Given the description of an element on the screen output the (x, y) to click on. 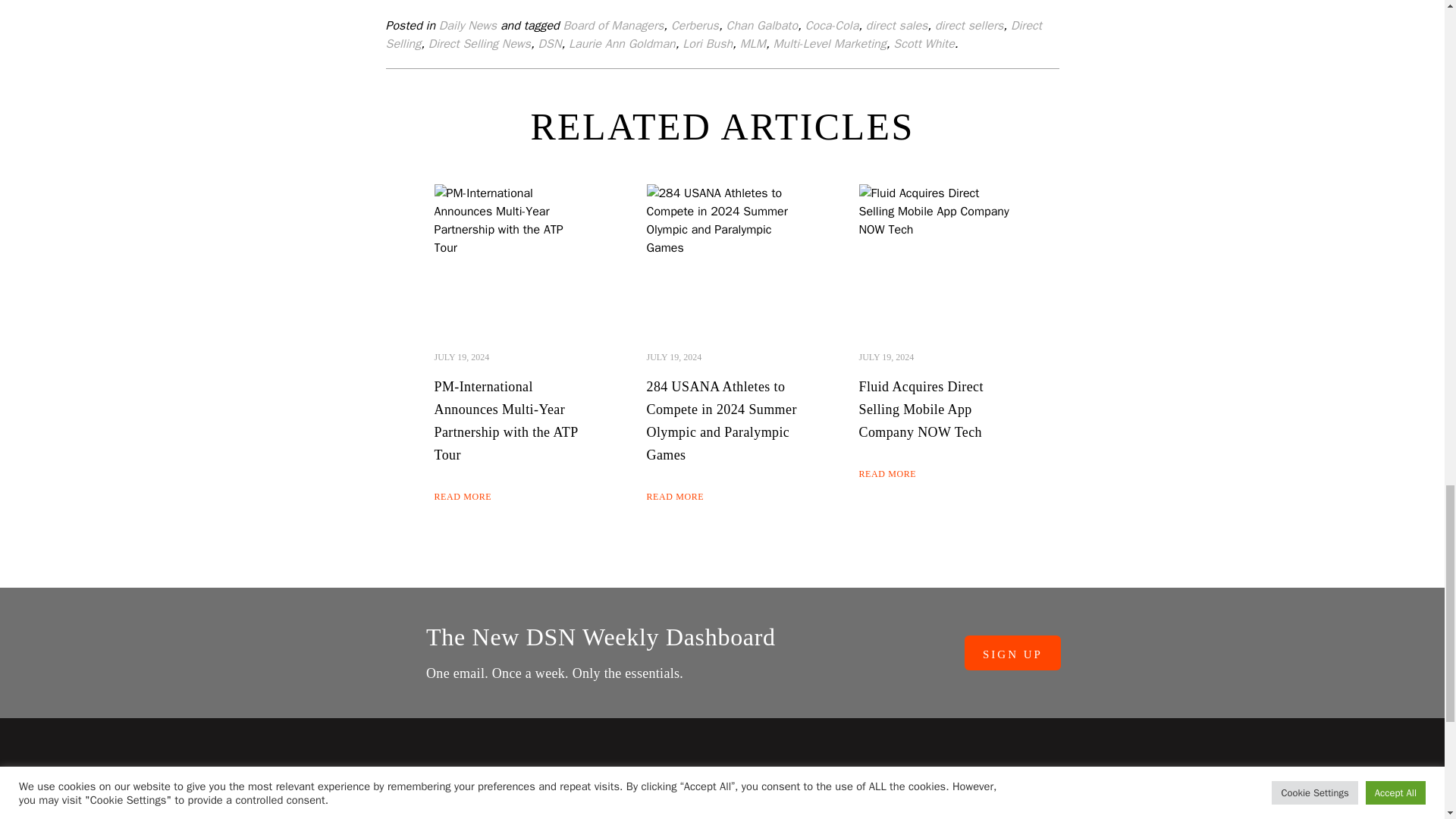
Sign Up (1012, 652)
